Given the description of an element on the screen output the (x, y) to click on. 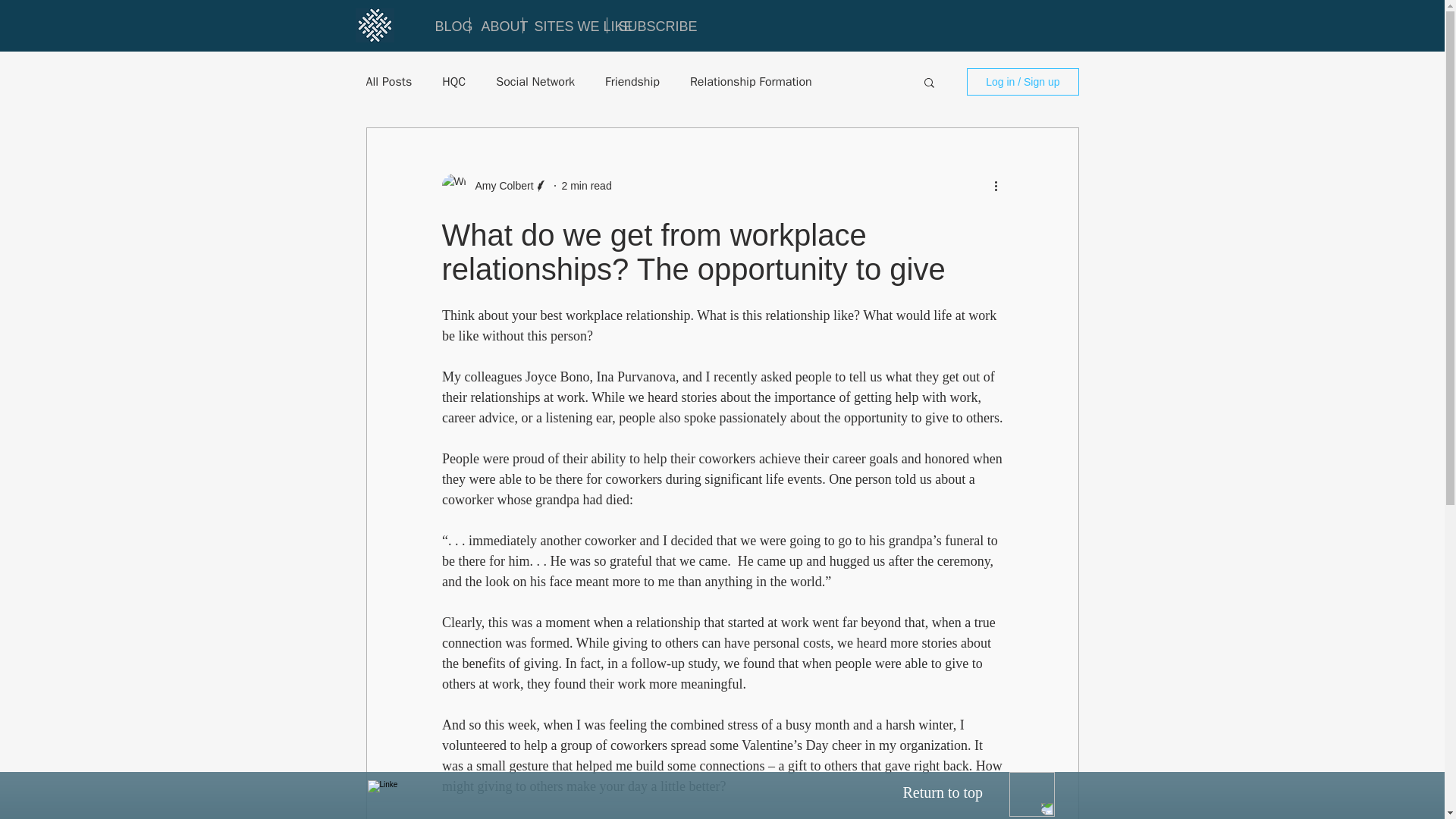
HQC (453, 82)
All Posts (388, 82)
Amy Colbert (494, 185)
ABOUT (496, 25)
Relationship Formation (751, 82)
Friendship (632, 82)
Social Network (535, 82)
BLOG (445, 25)
SUBSCRIBE (642, 25)
2 min read (586, 184)
Amy Colbert (498, 185)
SITES WE LIKE (564, 25)
